Given the description of an element on the screen output the (x, y) to click on. 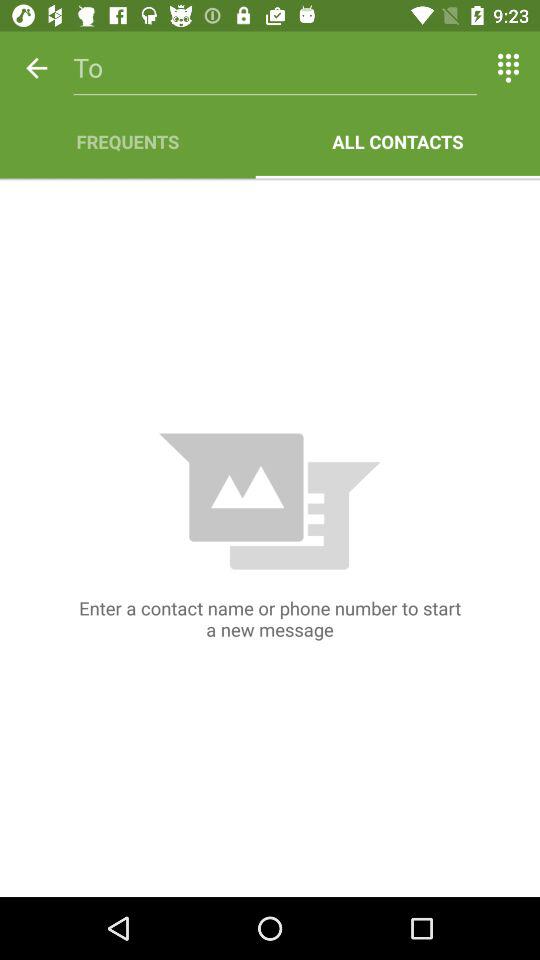
click item above the all contacts (508, 67)
